Given the description of an element on the screen output the (x, y) to click on. 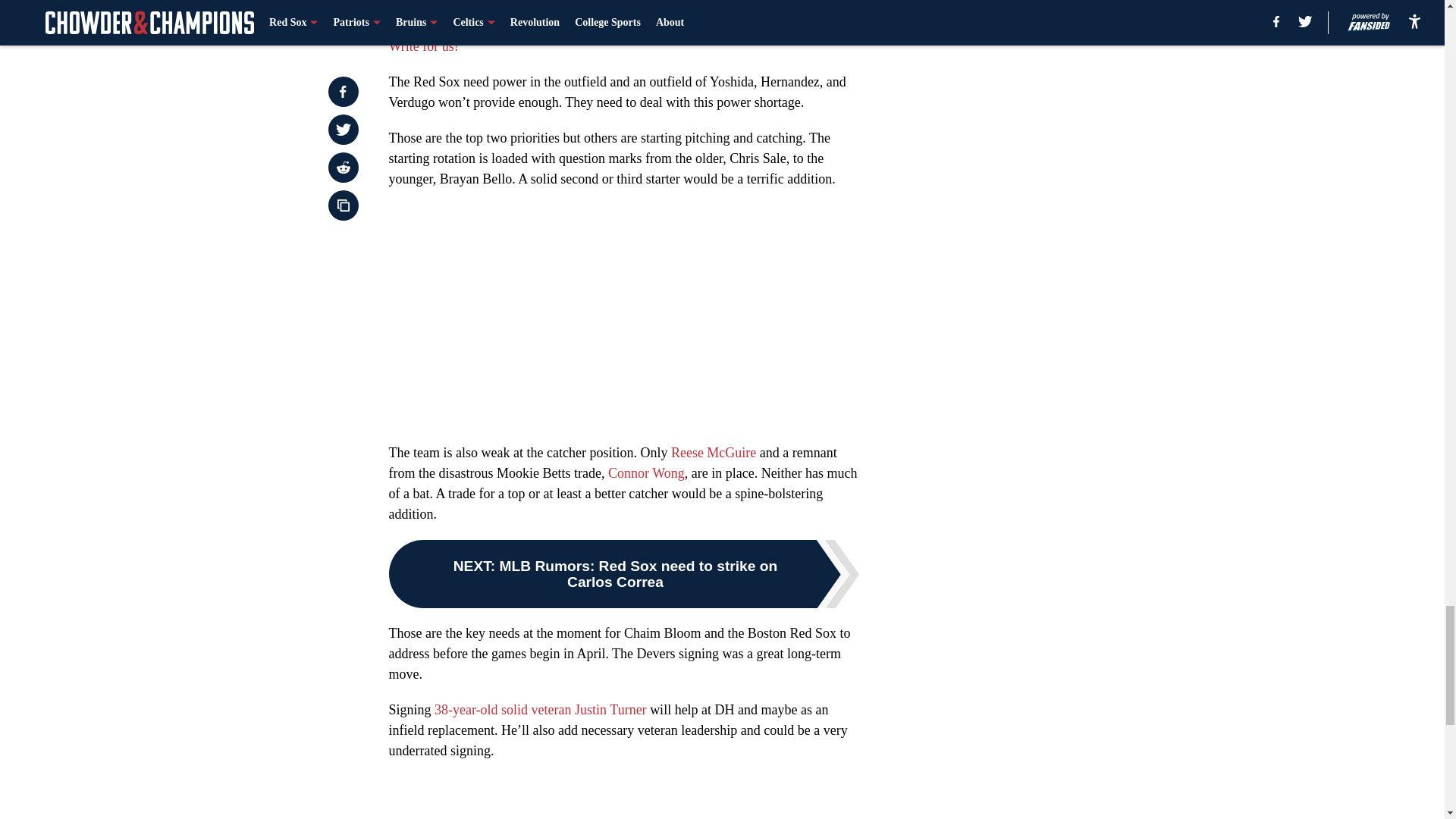
Write for us! (423, 46)
